Given the description of an element on the screen output the (x, y) to click on. 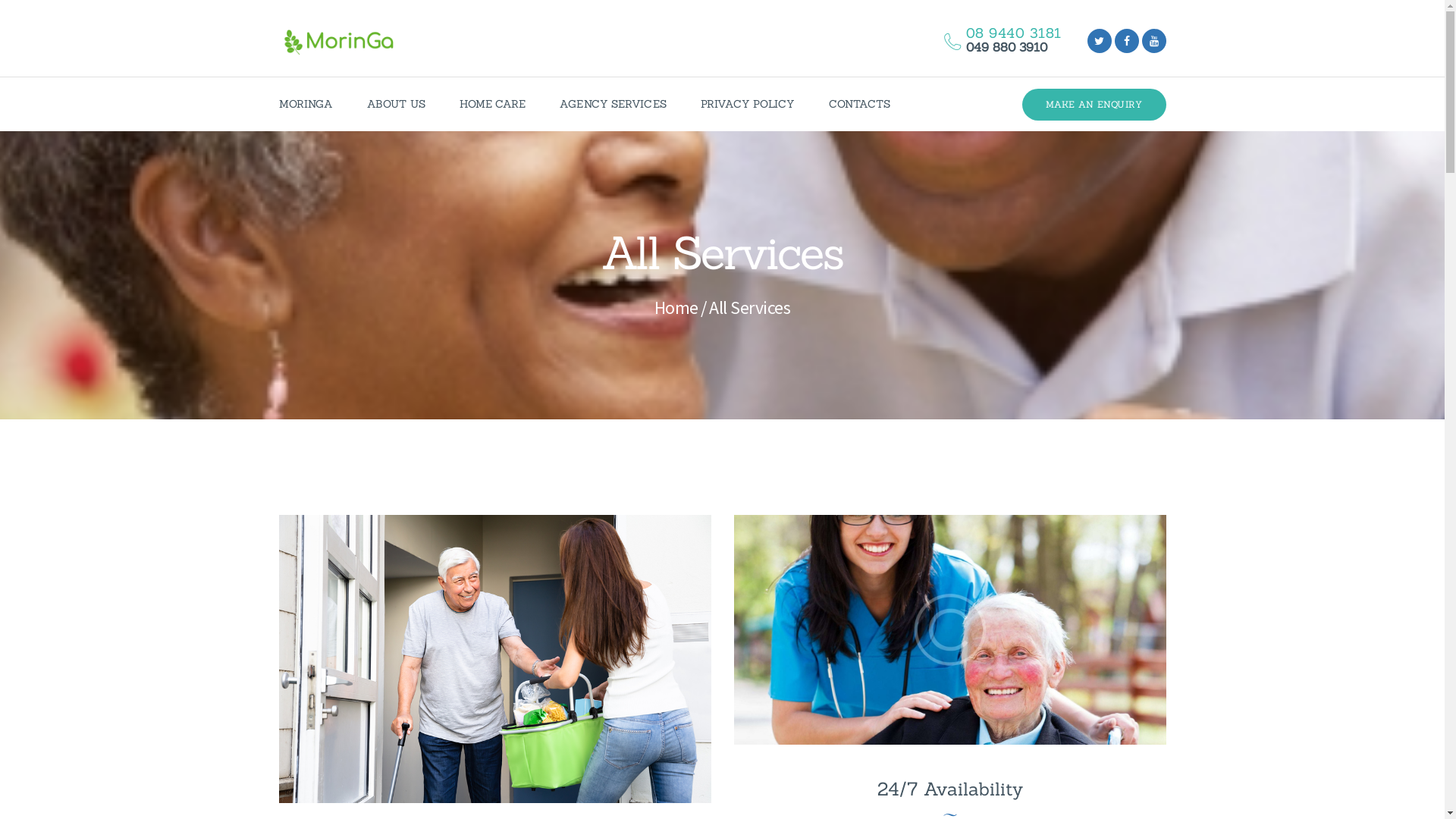
HOME CARE Element type: text (492, 104)
Home Element type: text (676, 307)
08 9440 3181
049 880 3910 Element type: text (994, 41)
ABOUT US Element type: text (396, 104)
PRIVACY POLICY Element type: text (747, 104)
MAKE AN ENQUIRY Element type: text (1094, 104)
CONTACTS Element type: text (859, 104)
24/7 Availability Element type: text (949, 789)
MORINGA Element type: text (305, 104)
AGENCY SERVICES Element type: text (612, 104)
